Given the description of an element on the screen output the (x, y) to click on. 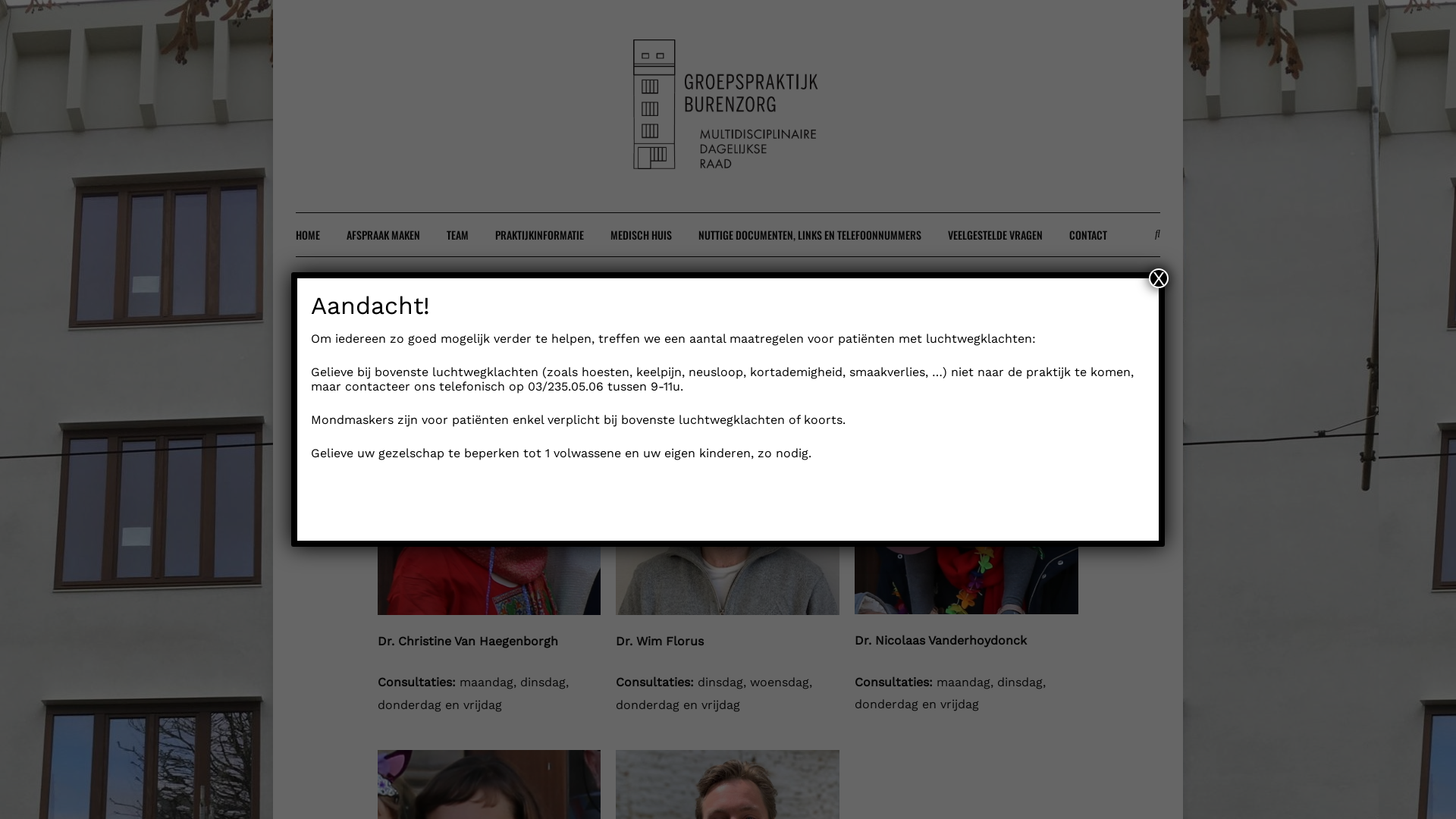
X Element type: text (1158, 278)
TEAM Element type: text (457, 235)
HOME Element type: text (307, 235)
NUTTIGE DOCUMENTEN, LINKS EN TELEFOONNUMMERS Element type: text (809, 235)
MEDISCH HUIS Element type: text (640, 235)
VEELGESTELDE VRAGEN Element type: text (994, 235)
PRAKTIJKINFORMATIE Element type: text (539, 235)
AFSPRAAK MAKEN Element type: text (383, 235)
CONTACT Element type: text (1088, 235)
